Given the description of an element on the screen output the (x, y) to click on. 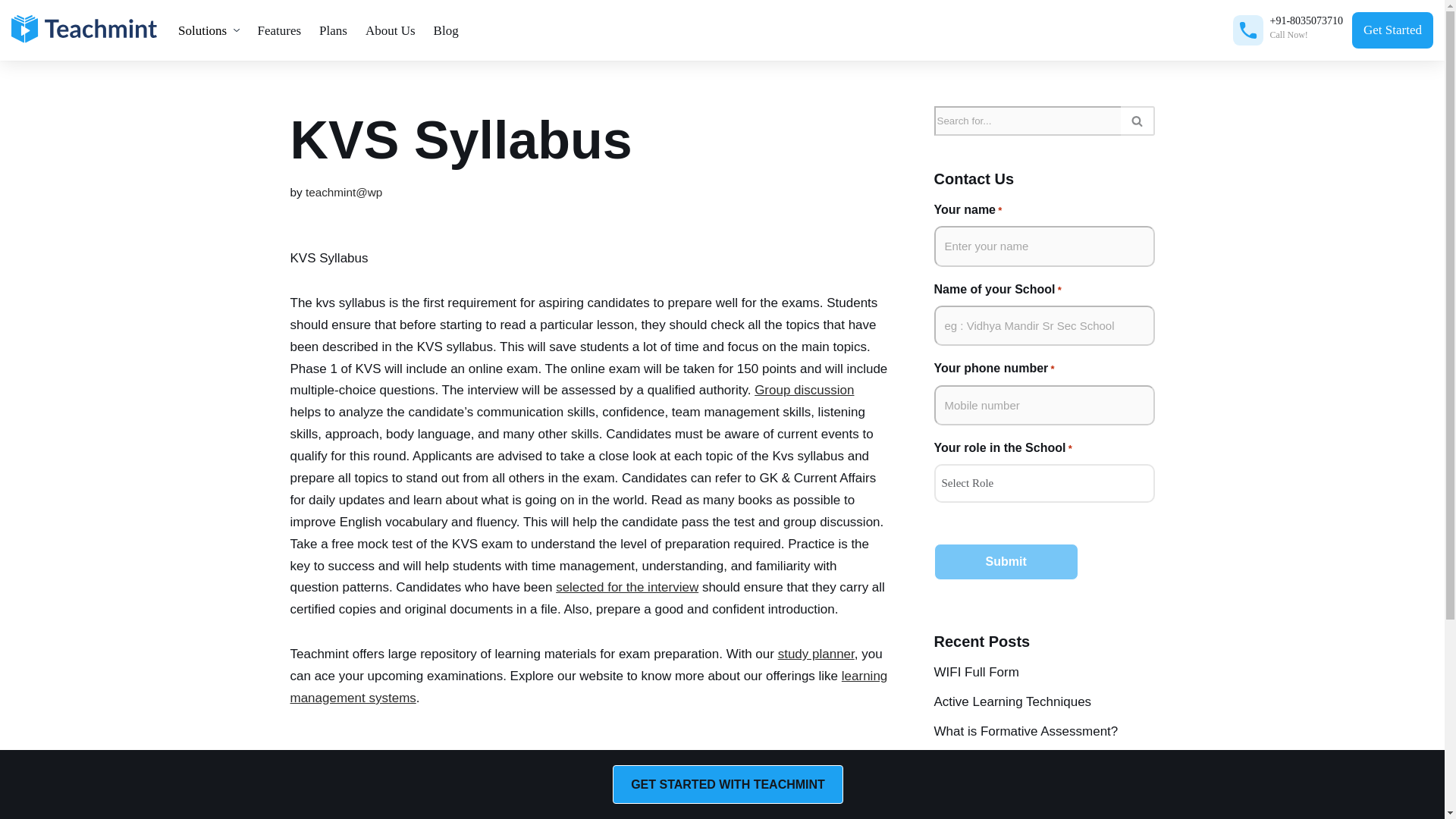
Features (279, 30)
Skip to content (11, 31)
Blog (446, 30)
About Us (390, 30)
Plans (333, 30)
Submit (1006, 561)
